Given the description of an element on the screen output the (x, y) to click on. 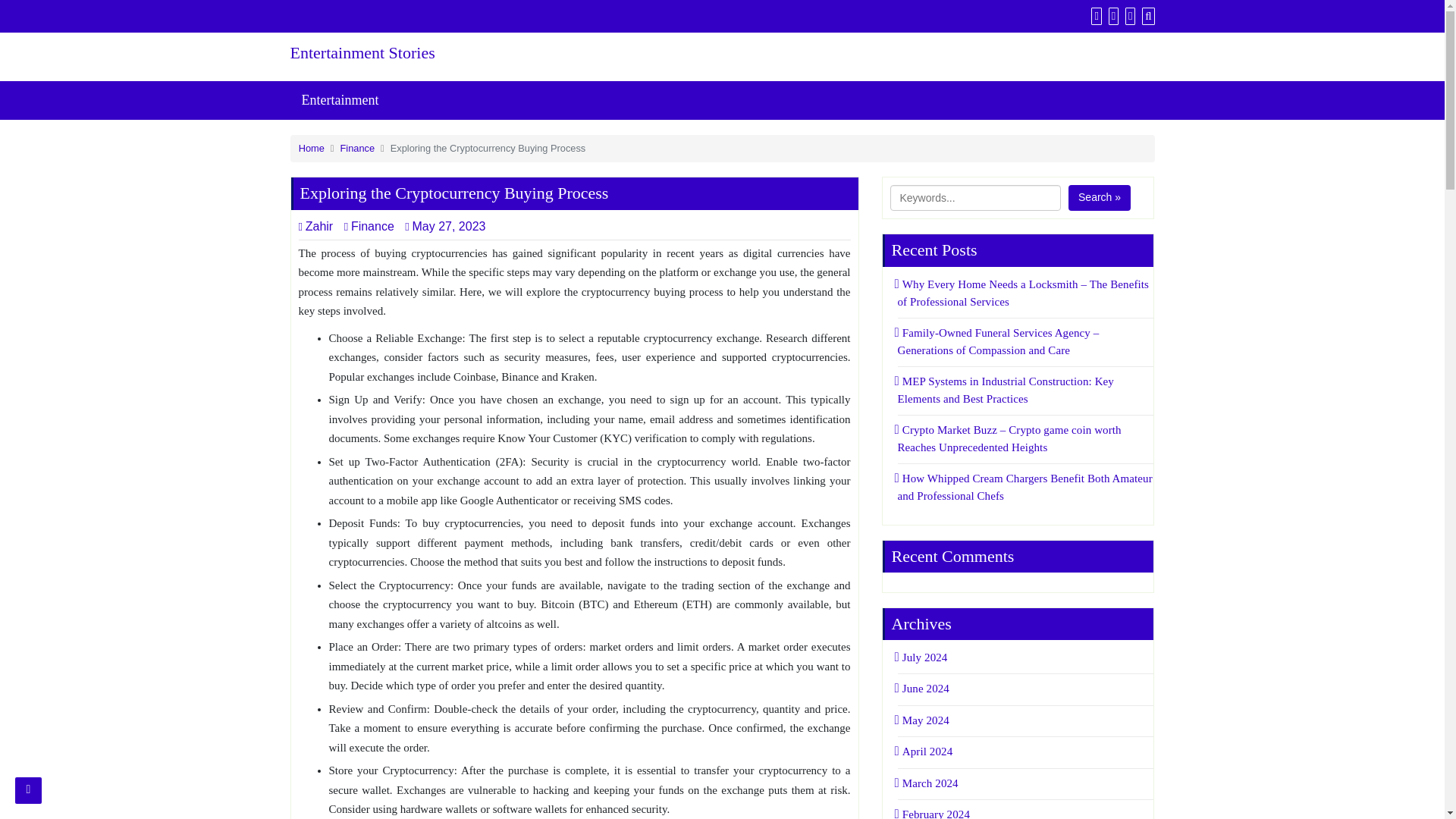
YouTube (1128, 15)
July 2024 (922, 657)
Finance (357, 147)
April 2024 (925, 751)
June 2024 (923, 688)
March 2024 (928, 783)
Zahir (315, 226)
Twitter (1111, 15)
Search (1146, 15)
